Given the description of an element on the screen output the (x, y) to click on. 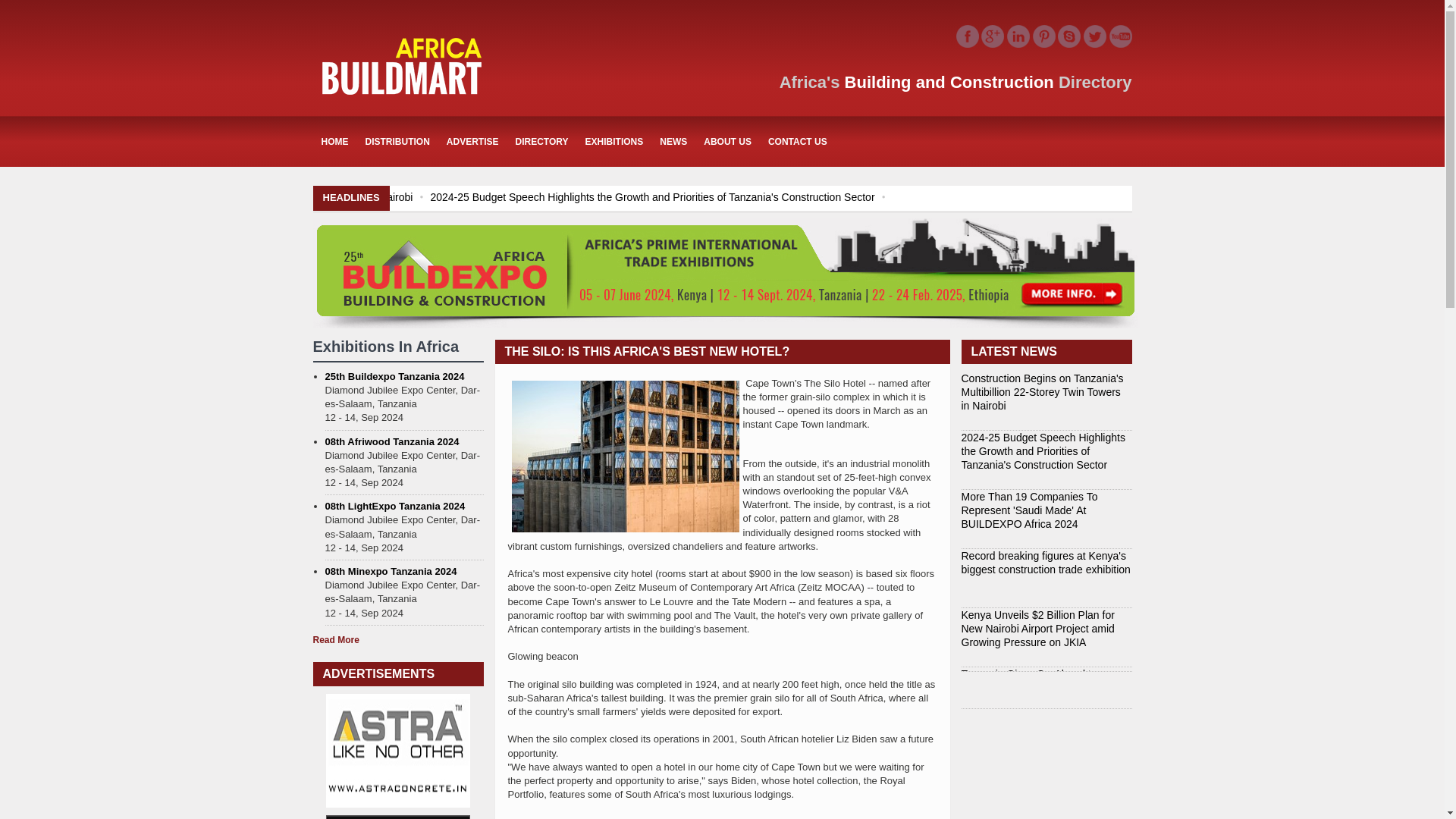
EXHIBITIONS (614, 141)
HOME (334, 141)
DIRECTORY (541, 141)
ADVERTISE (472, 141)
NEWS (672, 141)
CONTACT US (797, 141)
DISTRIBUTION (397, 141)
List Your Company Free (1050, 142)
ABOUT US (727, 141)
